Given the description of an element on the screen output the (x, y) to click on. 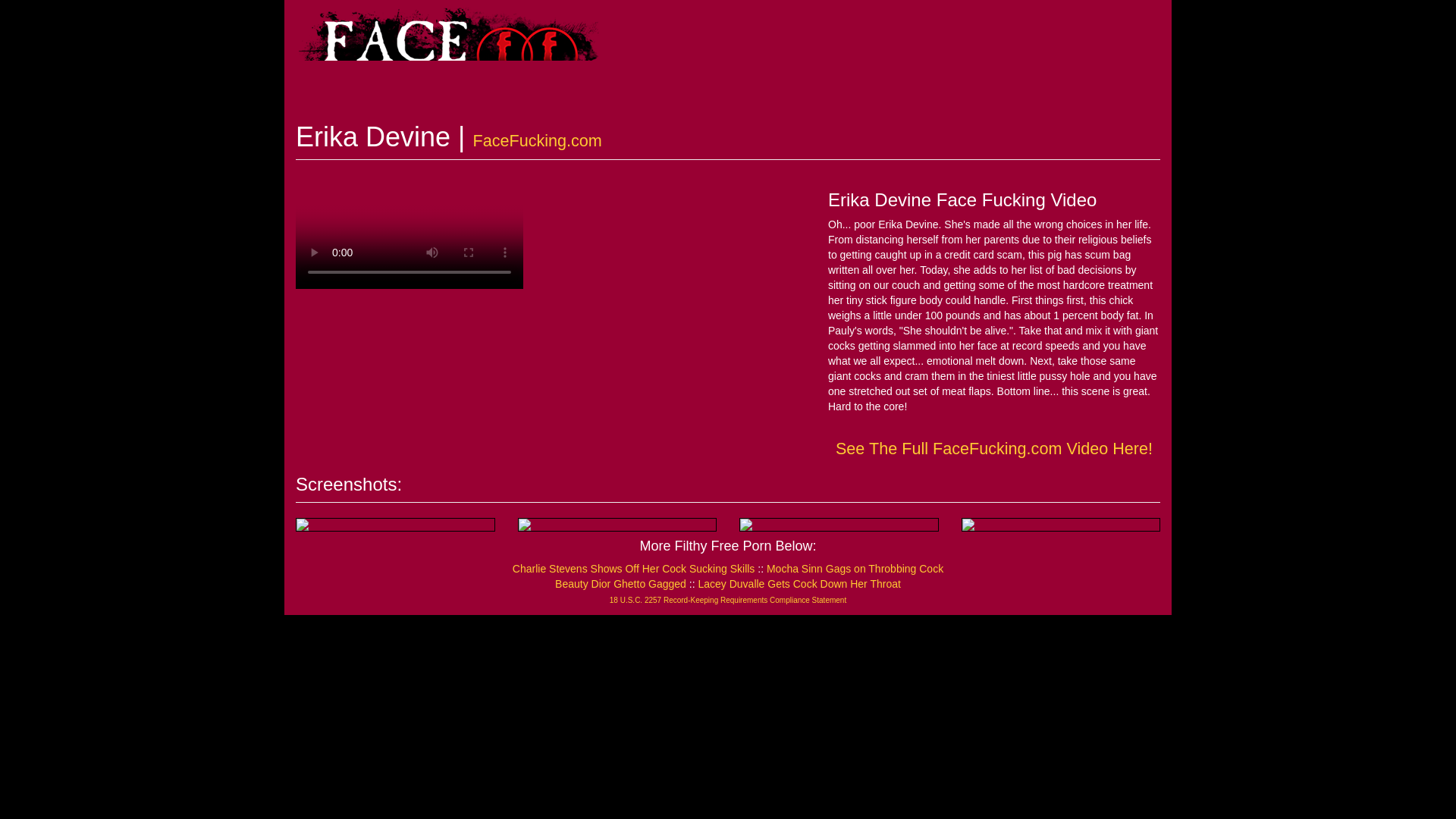
Beauty Dior Ghetto Gagged (619, 583)
Lacey Duvalle Gets Cock Down Her Throat (798, 583)
See The Full FaceFucking.com Video Here! (994, 447)
FaceFucking.com (536, 140)
Mocha Sinn Gags on Throbbing Cock (855, 568)
Charlie Stevens Shows Off Her Cock Sucking Skills (633, 568)
